Given the description of an element on the screen output the (x, y) to click on. 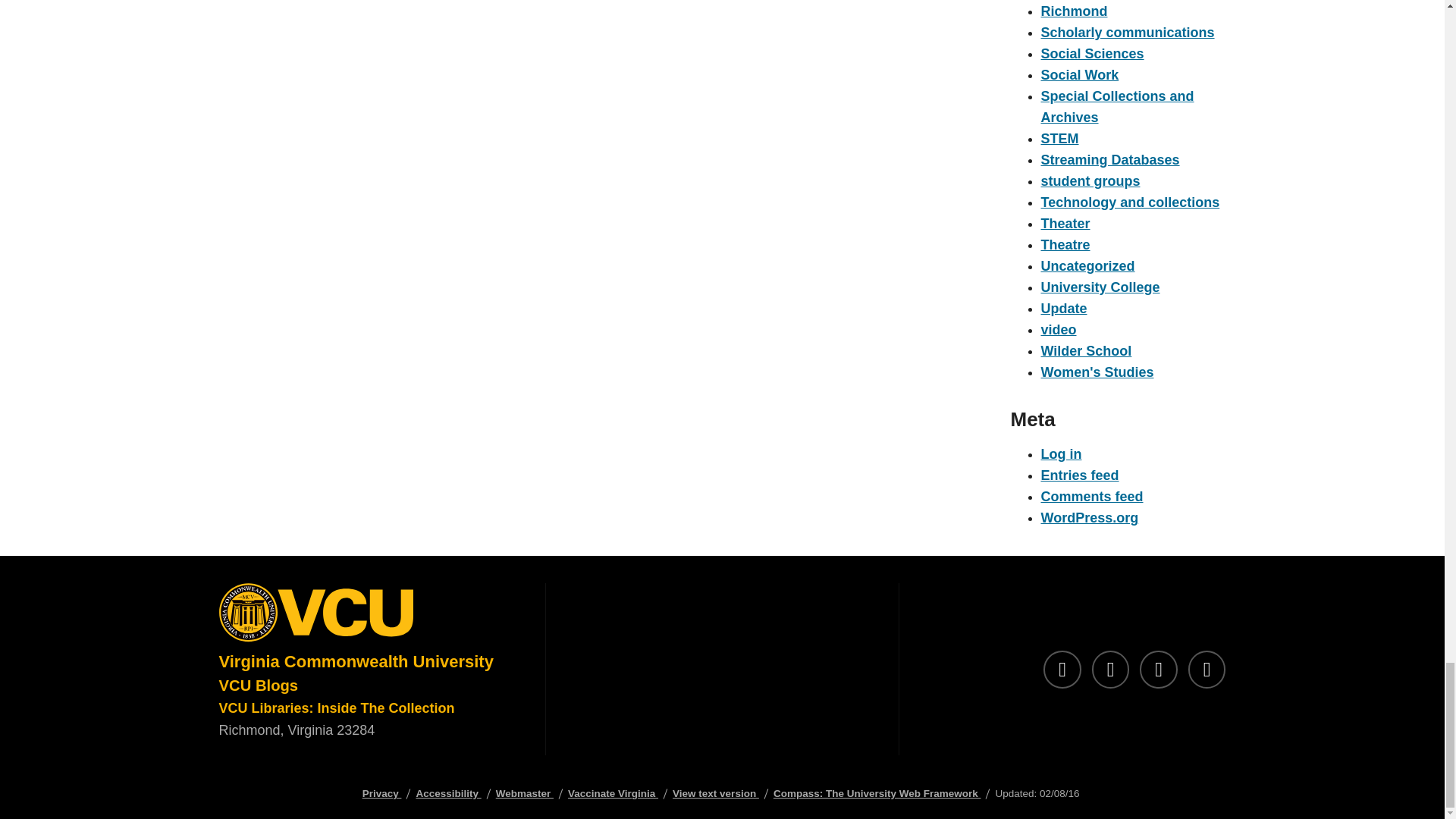
Vaccinate Virginia (612, 793)
Accessibility at VCU (447, 793)
Virginia Commonwealth University (355, 660)
VCU privacy statement (381, 793)
Contact the VCU webmaster (524, 793)
Compass: The University Web Framework (877, 793)
VCU Blogs (258, 685)
Virginia Commonwealth University seal (368, 616)
VCU Libraries: Inside The Collection (336, 708)
